Given the description of an element on the screen output the (x, y) to click on. 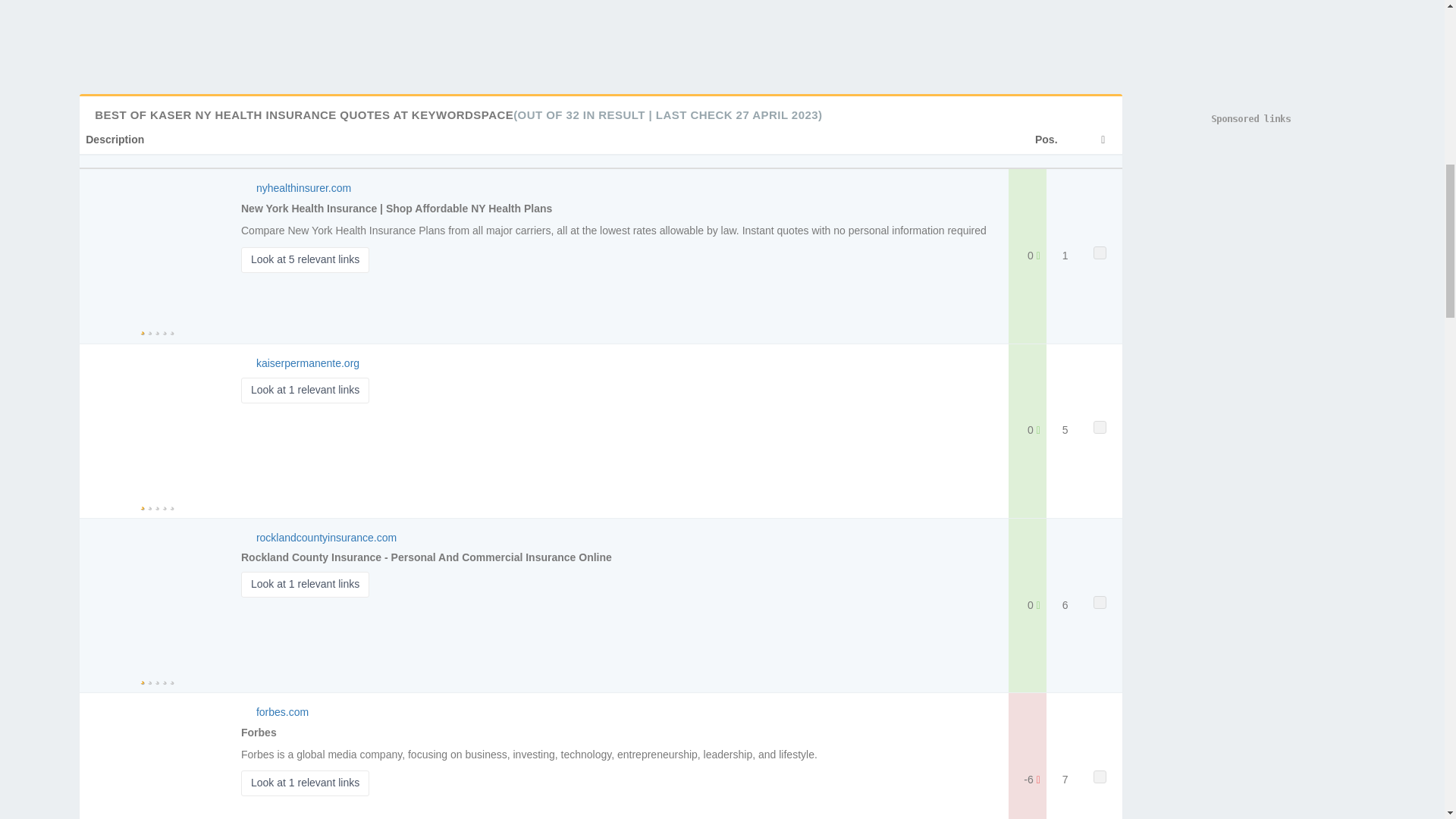
rocklandcountyinsurance.com (326, 537)
Look at 1 relevant links (305, 584)
kaiserpermanente.org (307, 363)
Advertisement (721, 31)
Look at 1 relevant links (305, 390)
Look at 5 relevant links (305, 259)
forbes.com (282, 711)
nyhealthinsurer.com (303, 187)
Look at 1 relevant links (305, 783)
